Given the description of an element on the screen output the (x, y) to click on. 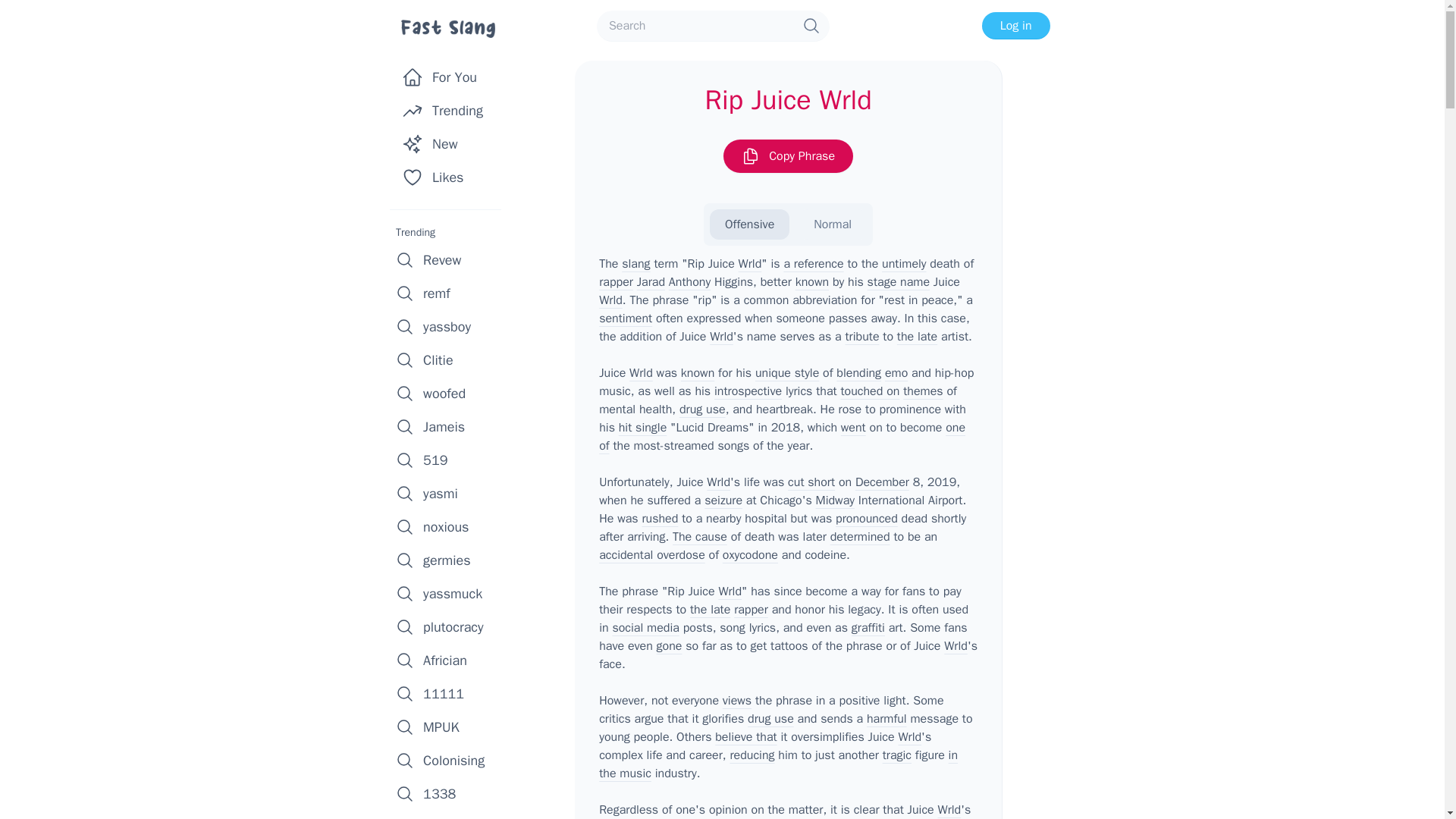
11111 (450, 693)
Jameis (450, 426)
1338 (450, 793)
germies (450, 560)
Wrld (749, 263)
yoonbumstain (450, 814)
remf (450, 293)
a reference (813, 263)
yasmi (450, 493)
Normal (831, 224)
Revew (450, 259)
noxious (450, 526)
yassboy (450, 326)
Africian (450, 660)
yasmi (450, 493)
